Given the description of an element on the screen output the (x, y) to click on. 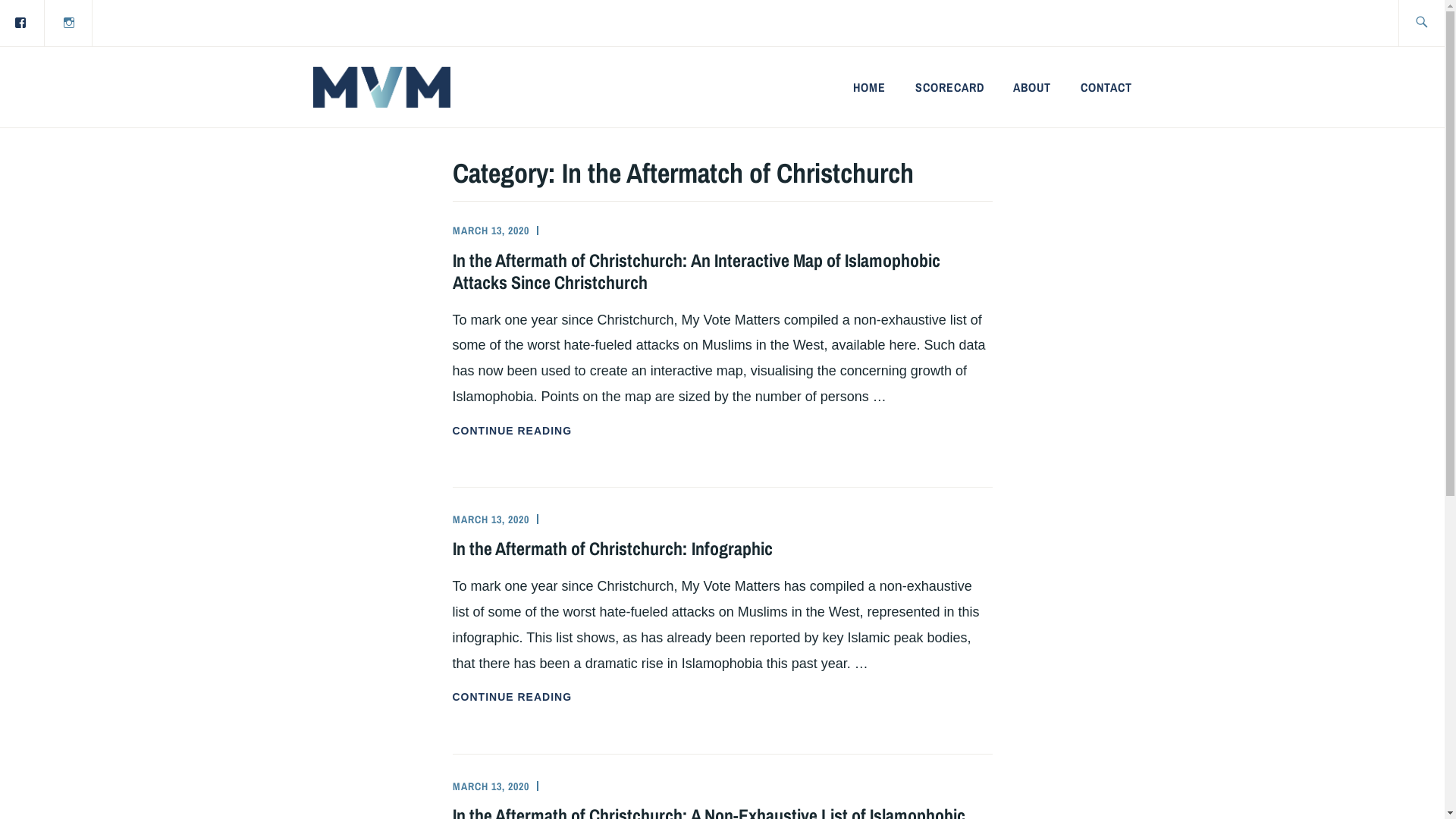
CONTACT Element type: text (1106, 86)
Search for: Element type: hover (1438, 23)
MARCH 13, 2020 Element type: text (489, 230)
HOME Element type: text (869, 86)
MARCH 13, 2020 Element type: text (489, 786)
SCORECARD Element type: text (949, 86)
Search Element type: text (47, 21)
MARCH 13, 2020 Element type: text (489, 519)
Instagram Element type: text (68, 21)
In the Aftermath of Christchurch: Infographic Element type: text (611, 548)
ABOUT Element type: text (1032, 86)
